Given the description of an element on the screen output the (x, y) to click on. 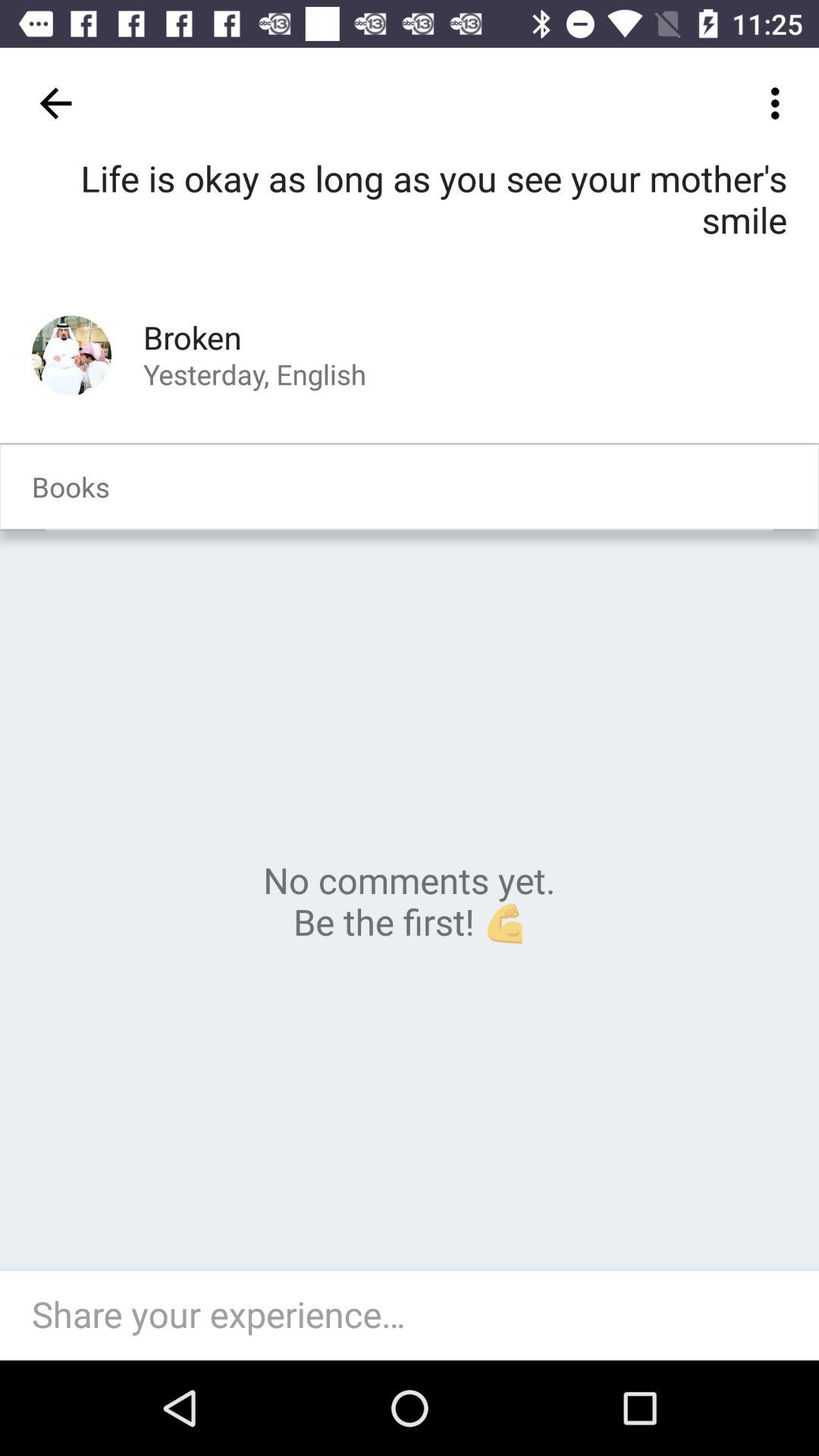
launch item below life is okay (71, 355)
